Given the description of an element on the screen output the (x, y) to click on. 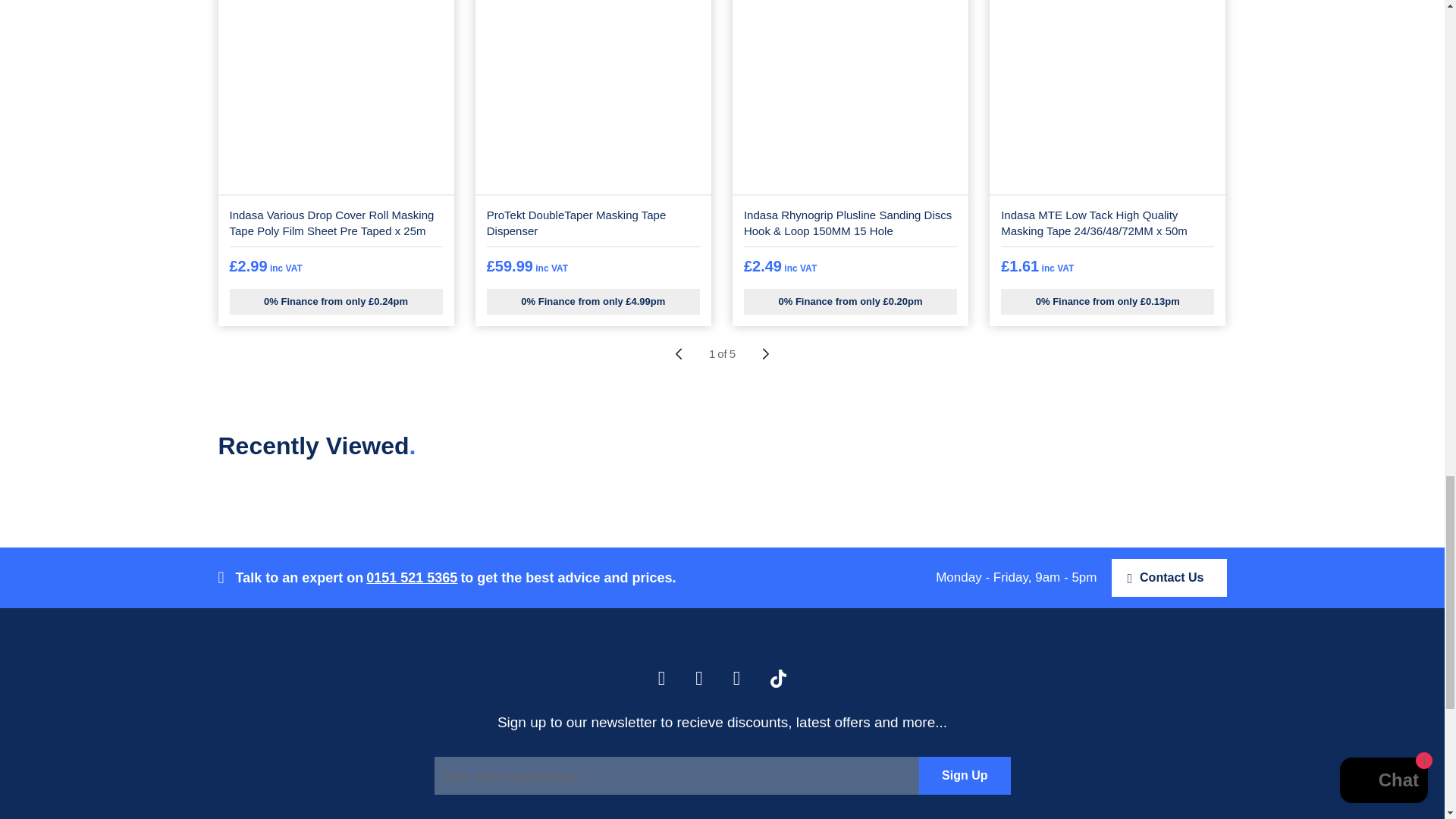
ProTekt DoubleTaper Masking Tape Dispenser (593, 97)
